Given the description of an element on the screen output the (x, y) to click on. 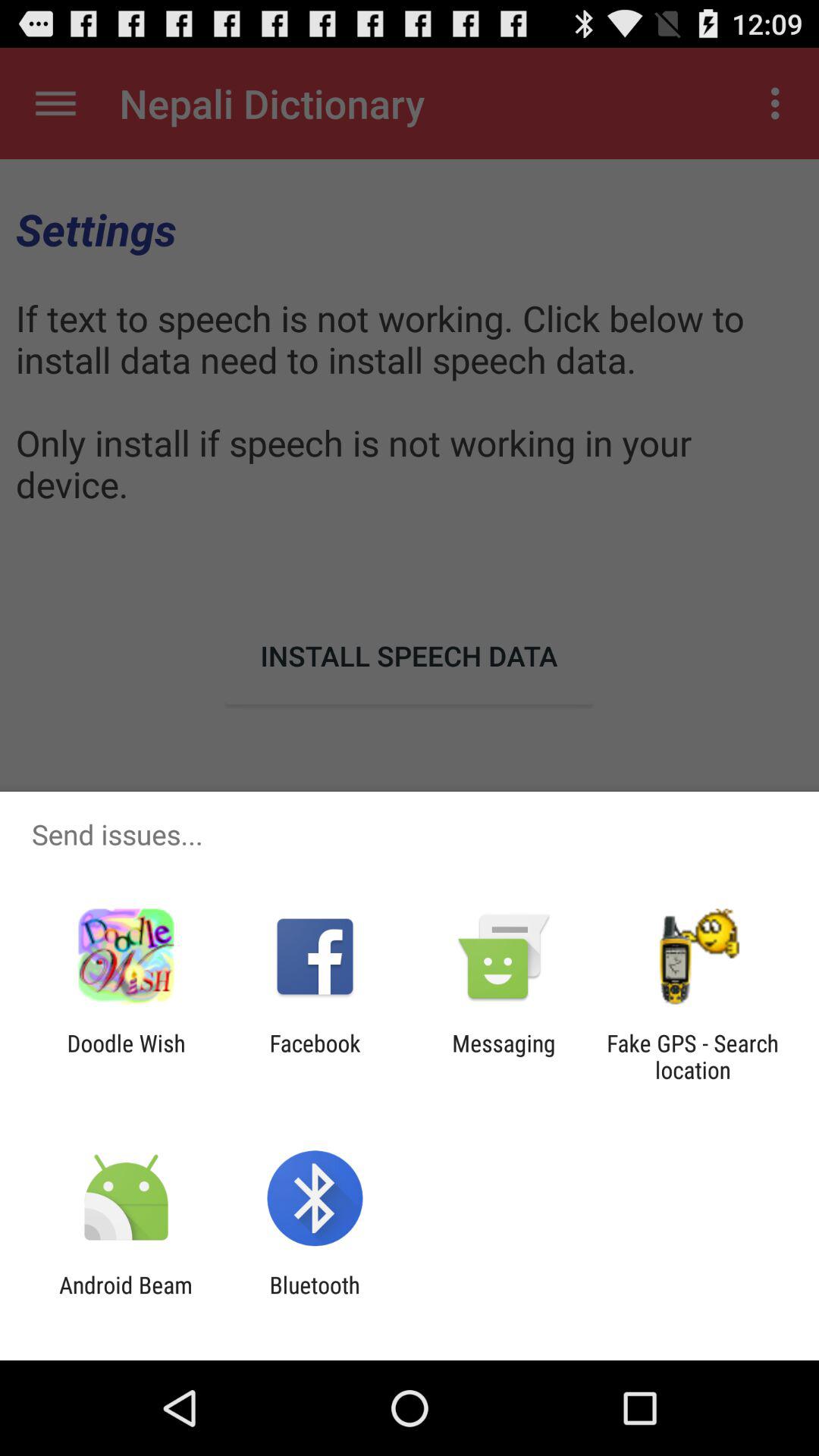
tap the icon next to the messaging icon (692, 1056)
